Given the description of an element on the screen output the (x, y) to click on. 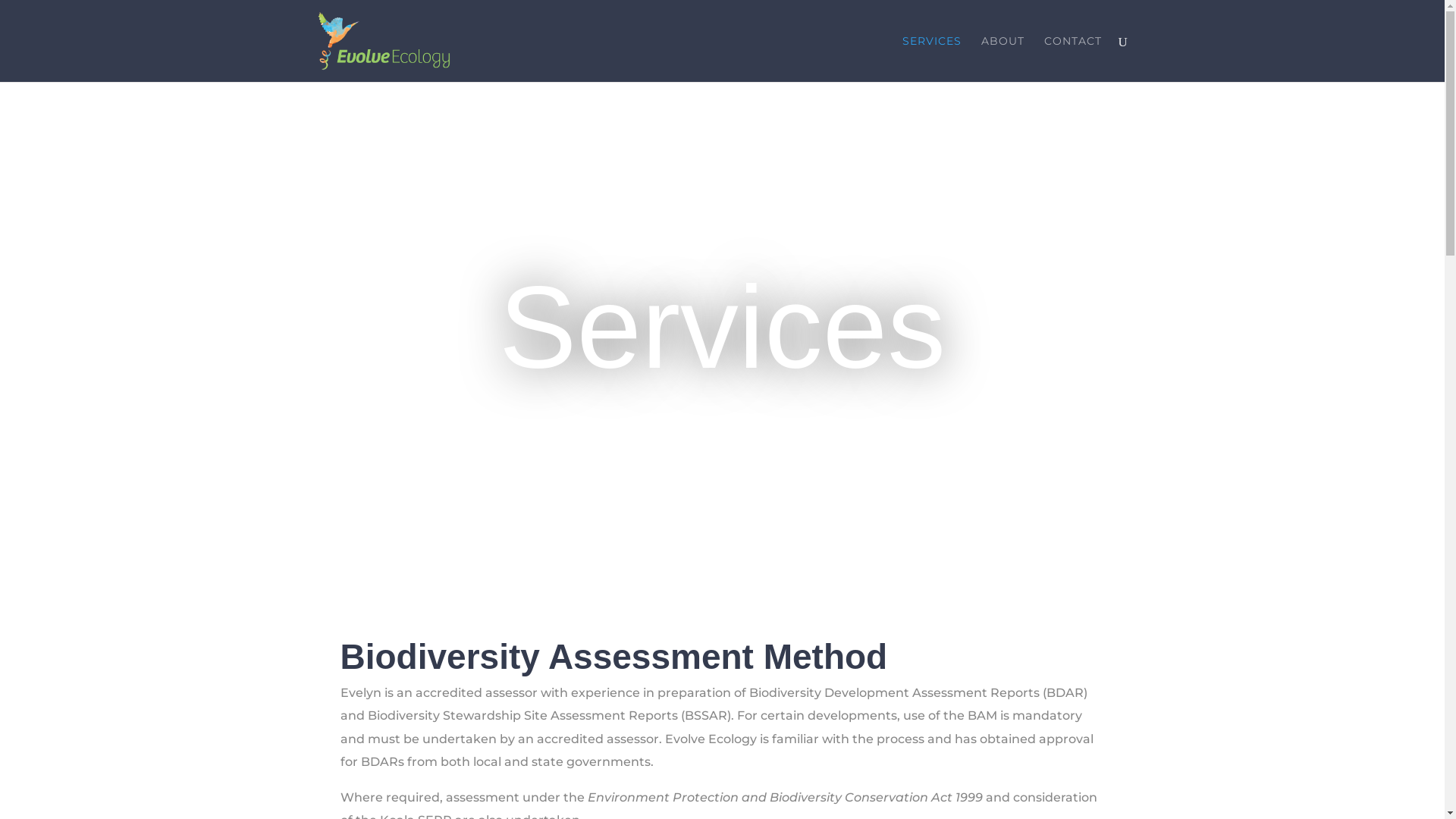
CONTACT Element type: text (1072, 58)
SERVICES Element type: text (931, 58)
ABOUT Element type: text (1002, 58)
